Given the description of an element on the screen output the (x, y) to click on. 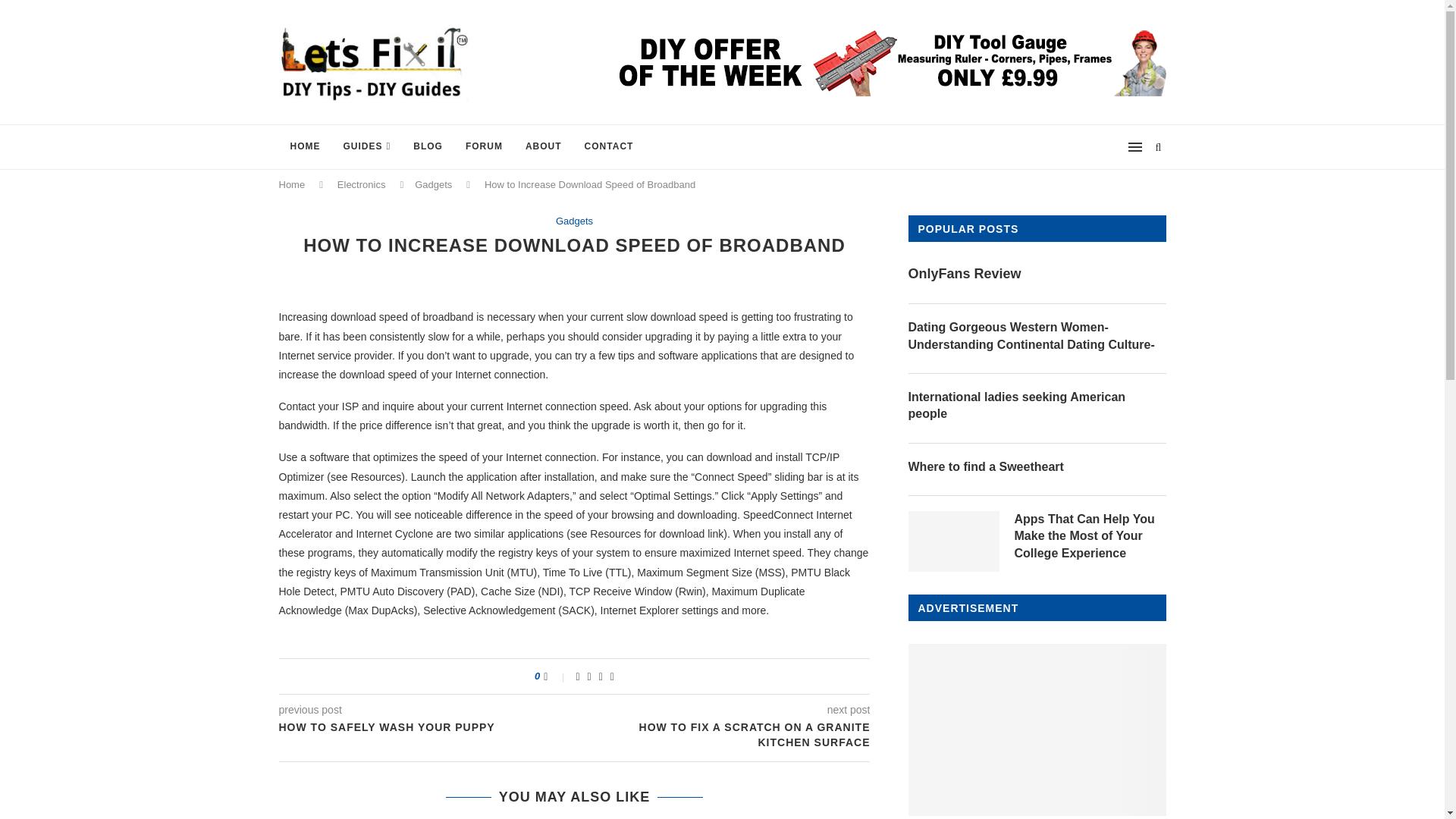
Where to find a Sweetheart (1037, 466)
International ladies seeking American people (1037, 406)
OnlyFans Review (1037, 273)
Like (555, 676)
